Given the description of an element on the screen output the (x, y) to click on. 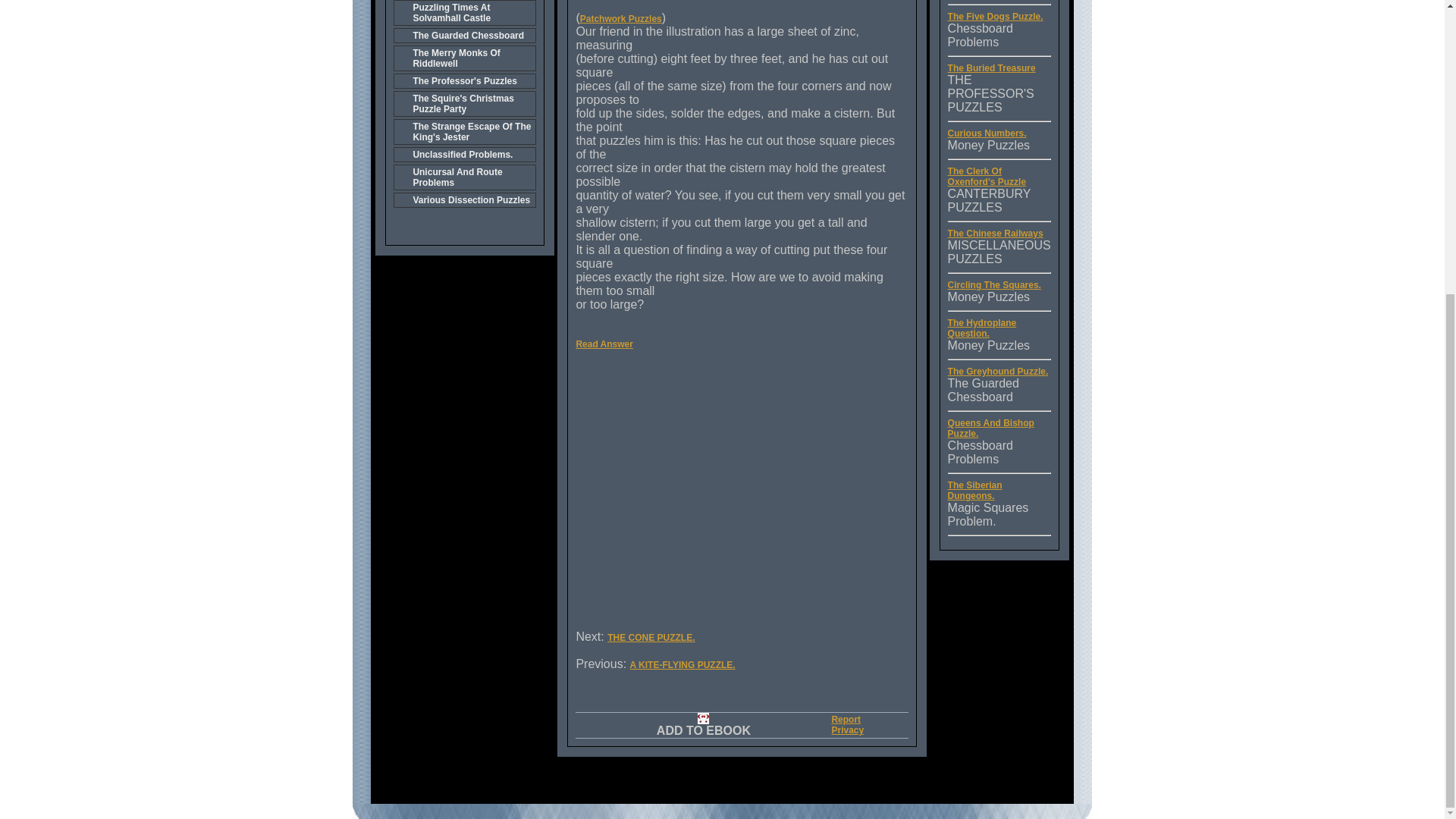
The Merry Monks Of Riddlewell (464, 58)
THE CONE PUZZLE. (650, 637)
The Guarded Chessboard (464, 35)
Advertisement (725, 496)
Report (845, 719)
Various Dissection Puzzles (464, 200)
Unicursal And Route Problems (464, 177)
Puzzling Times At Solvamhall Castle (464, 12)
Read Answer (604, 344)
A KITE-FLYING PUZZLE. (682, 665)
The Strange Escape Of The King's Jester (464, 131)
Patchwork Puzzles (620, 18)
Privacy (847, 729)
The Professor's Puzzles (464, 80)
Unclassified Problems. (464, 154)
